Given the description of an element on the screen output the (x, y) to click on. 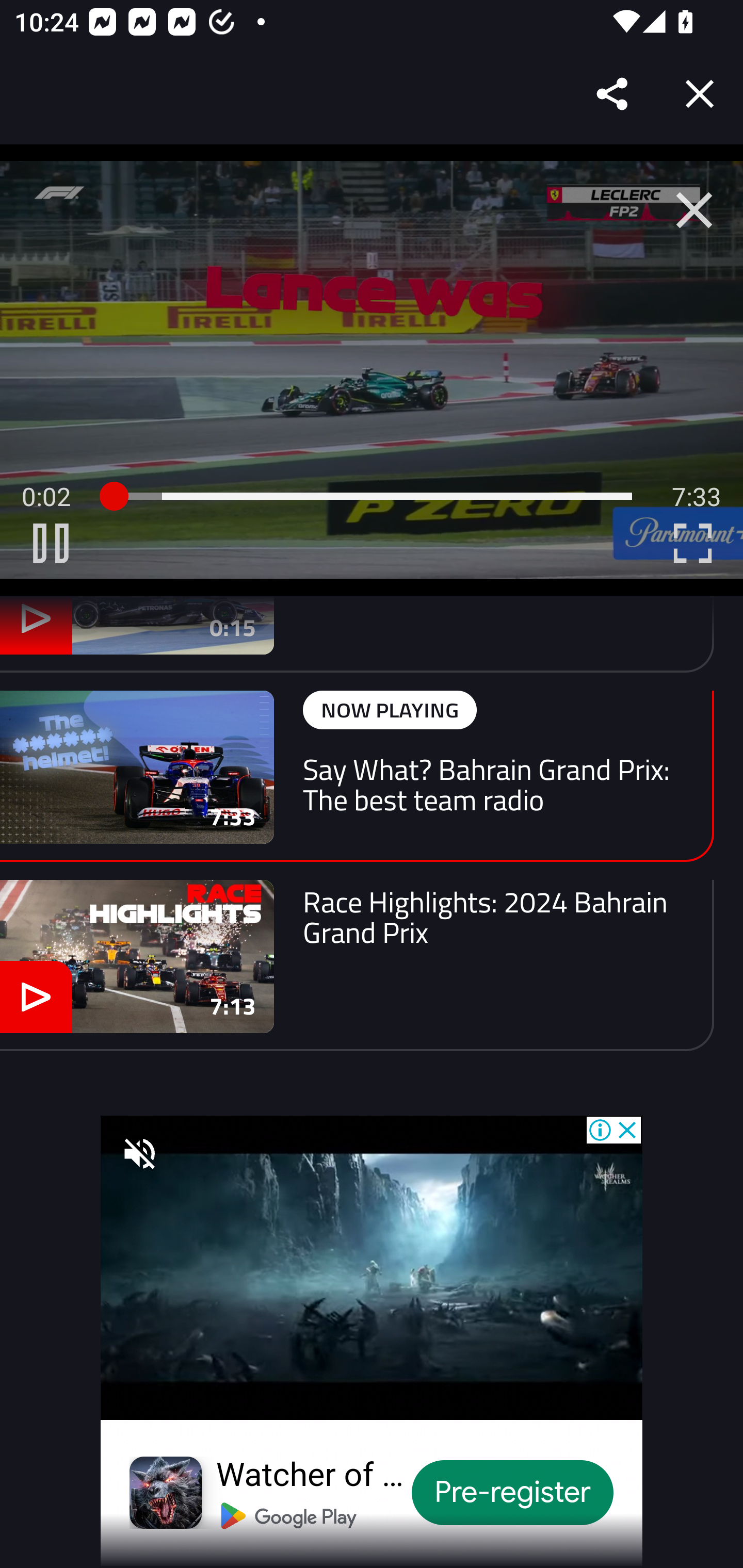
Share (612, 93)
Close (699, 93)
 Close (693, 210)
B Pause (50, 543)
C Enter Fullscreen (692, 543)
7:13 Race Highlights: 2024 Bahrain Grand Prix (357, 964)
Pre-register (512, 1492)
